Given the description of an element on the screen output the (x, y) to click on. 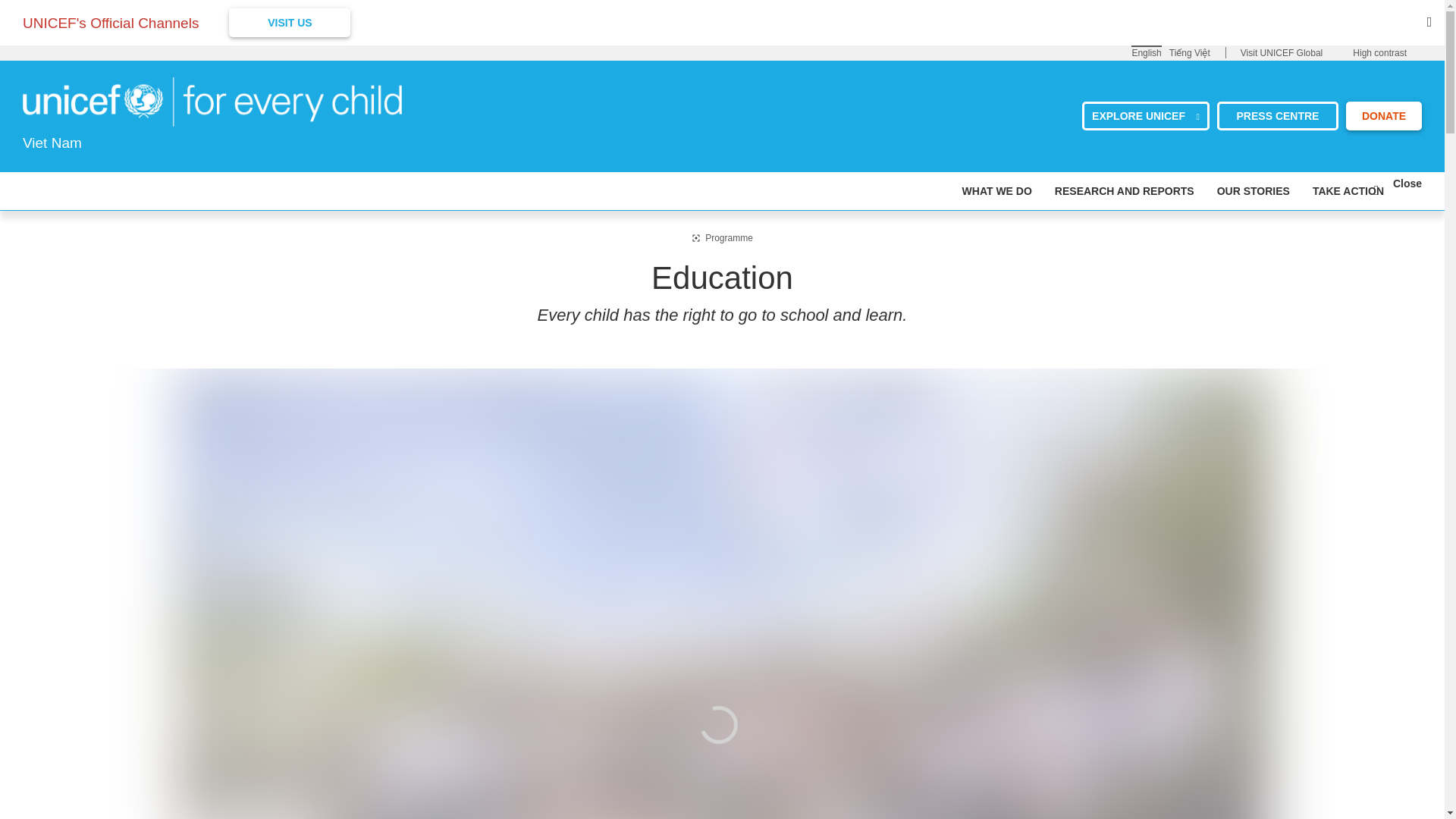
PRESS CENTRE (1277, 115)
English (1145, 51)
EXPLORE UNICEF (1145, 115)
TAKE ACTION (1348, 190)
EXPLORE UNICEF (1145, 115)
OUR STORIES (1253, 190)
WHAT WE DO (997, 190)
RESEARCH AND REPORTS (1123, 190)
DONATE (1383, 115)
